Given the description of an element on the screen output the (x, y) to click on. 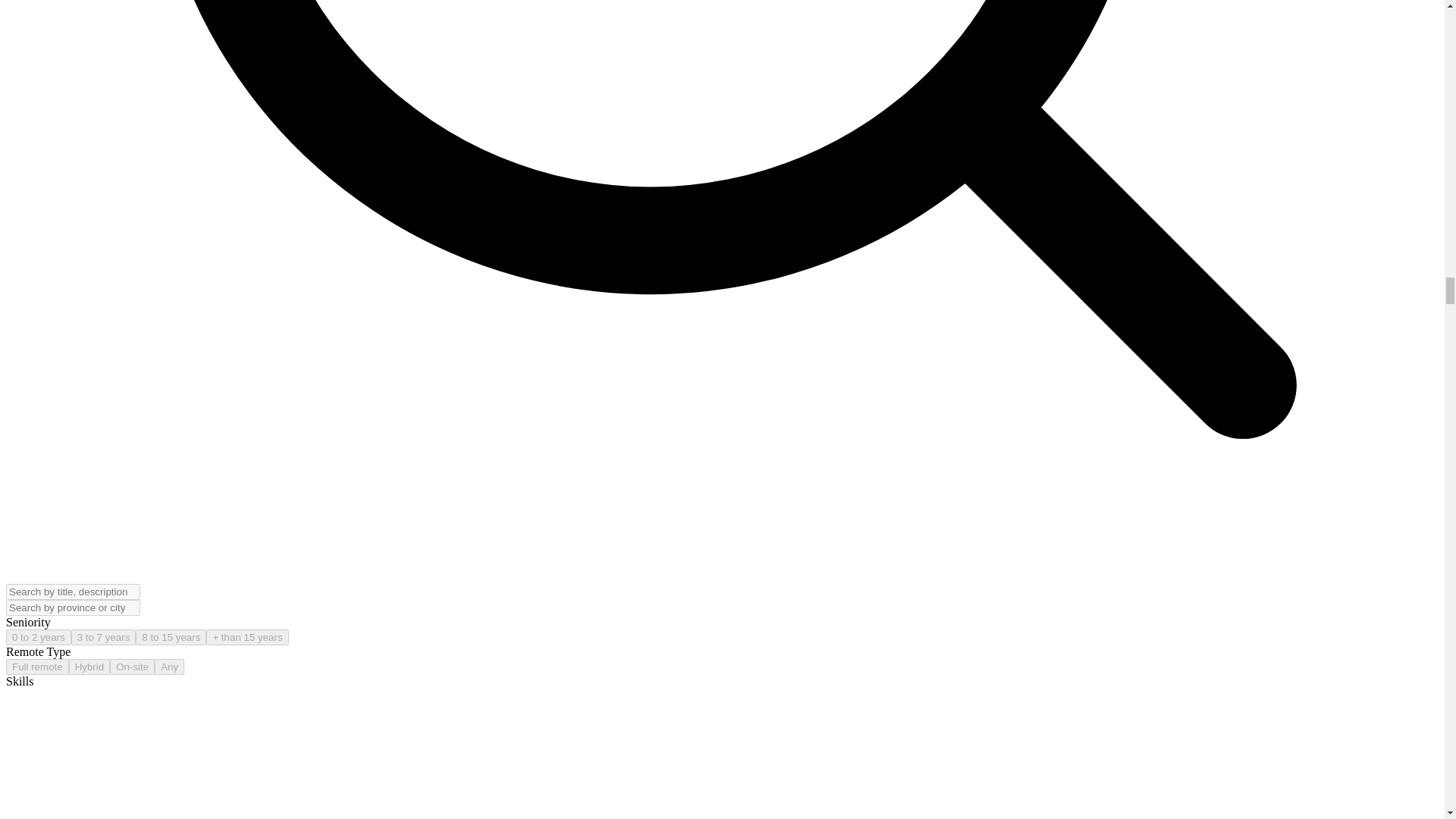
0 to 2 years (38, 637)
Hybrid (89, 666)
3 to 7 years (103, 637)
Full remote (36, 666)
On-site (132, 666)
Any (169, 666)
8 to 15 years (170, 637)
